Given the description of an element on the screen output the (x, y) to click on. 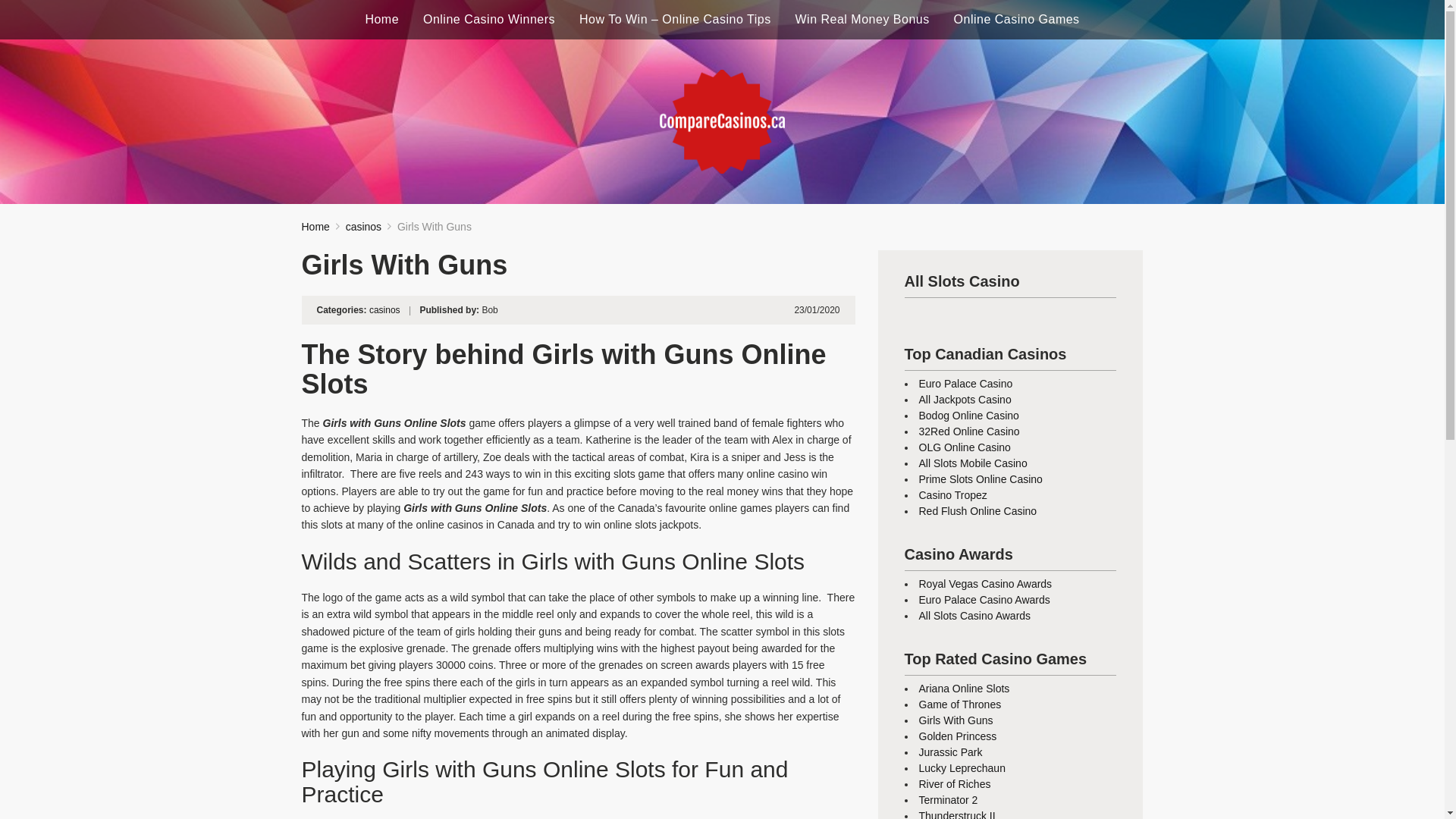
Bodog Online Casino (968, 415)
All Jackpots Casino (964, 399)
Casino Tropez (952, 494)
All Slots Mobile Casino (972, 463)
Girls With Guns (955, 720)
Prime Slots Online Casino (980, 479)
Online Casino Games (1016, 19)
Royal Vegas Casino Awards (985, 583)
Ariana Online Slots (964, 688)
casinos (363, 226)
